Given the description of an element on the screen output the (x, y) to click on. 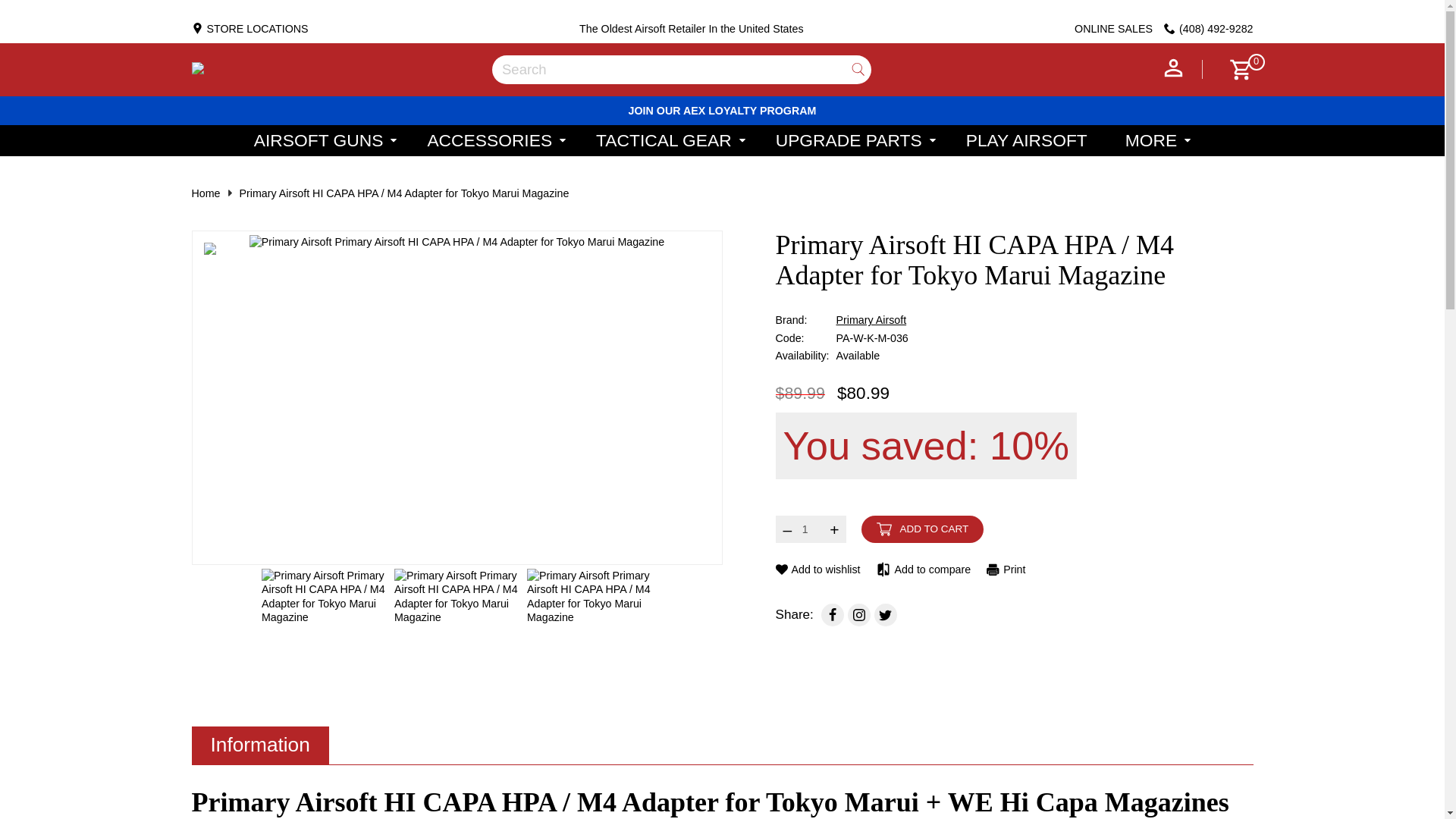
JOIN OUR AEX LOYALTY PROGRAM (722, 110)
AIRSOFT GUNS (325, 140)
STORE LOCATIONS (248, 29)
0 (1235, 69)
1 (810, 528)
ACCESSORIES (496, 140)
